Given the description of an element on the screen output the (x, y) to click on. 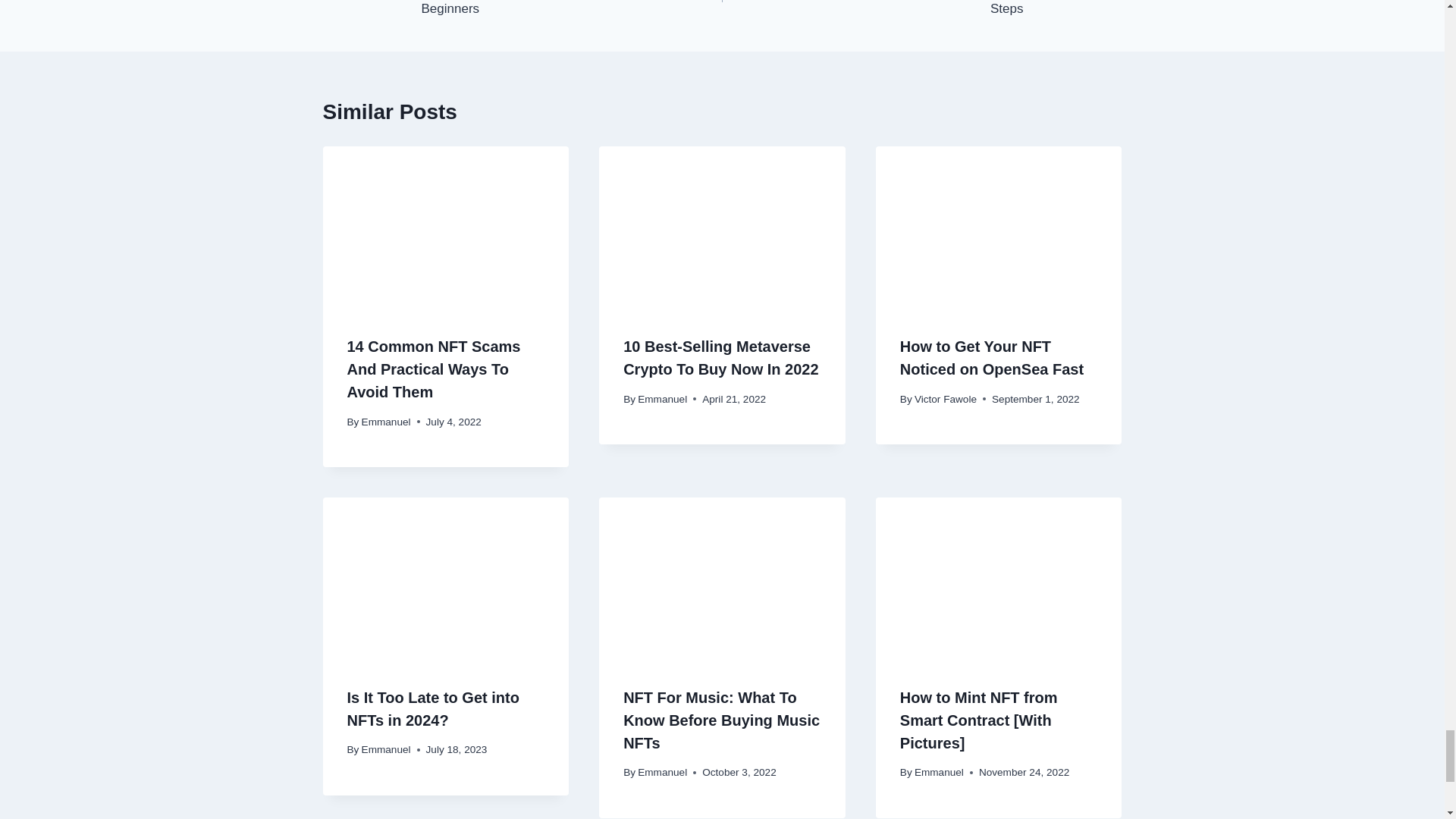
10 Best-Selling Metaverse Crypto To Buy Now In 2022 7 (721, 228)
14 Common NFT Scams And Practical Ways To Avoid Them 6 (446, 228)
NFT For Music: What To Know Before Buying Music NFTs 10 (721, 578)
How to Get Your NFT Noticed on OpenSea Fast 8 (999, 228)
Is It Too Late to Get into NFTs in 2024? 9 (446, 578)
